Given the description of an element on the screen output the (x, y) to click on. 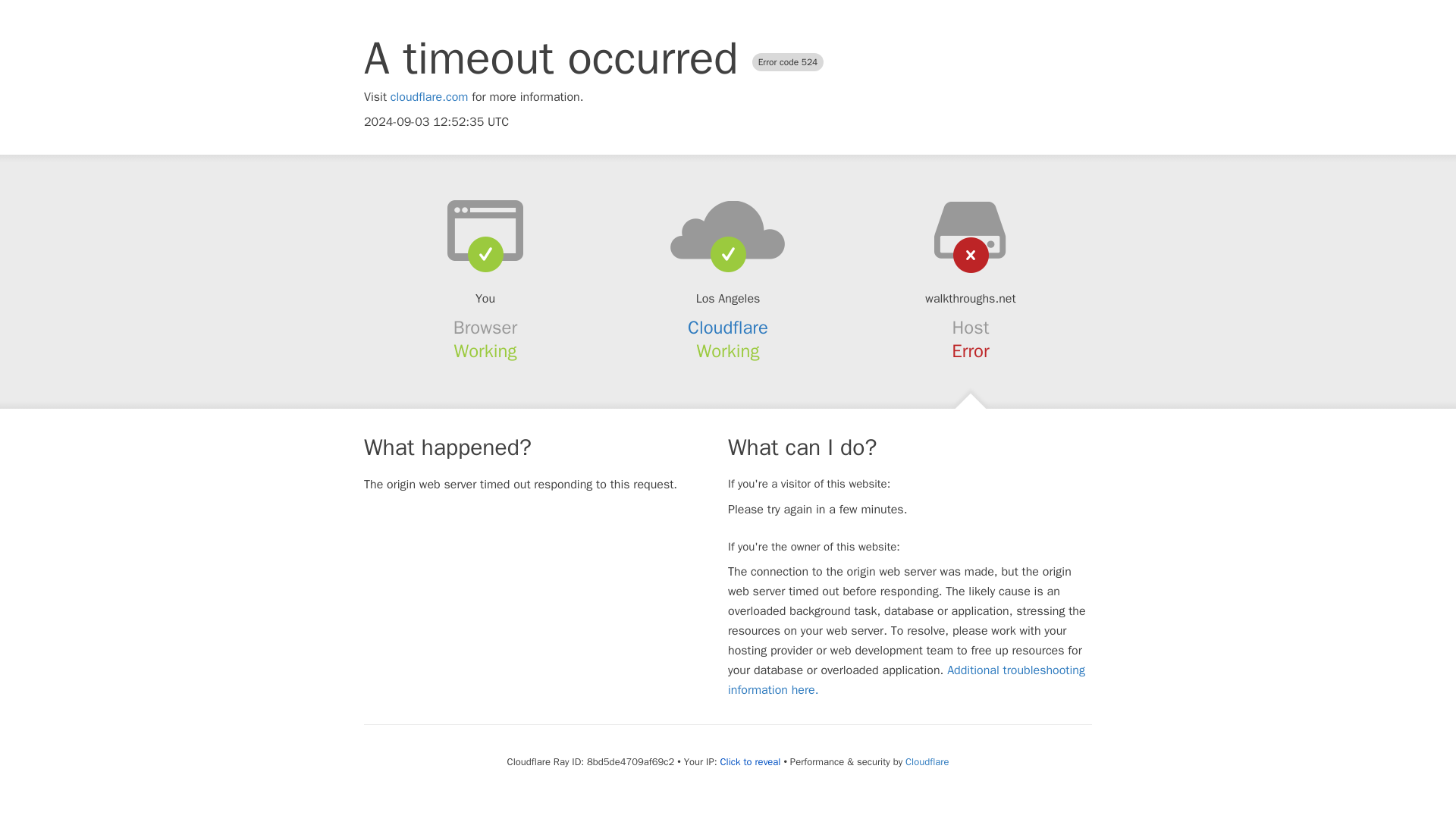
cloudflare.com (429, 96)
Click to reveal (750, 762)
Cloudflare (727, 327)
Cloudflare (927, 761)
Additional troubleshooting information here. (906, 679)
